Given the description of an element on the screen output the (x, y) to click on. 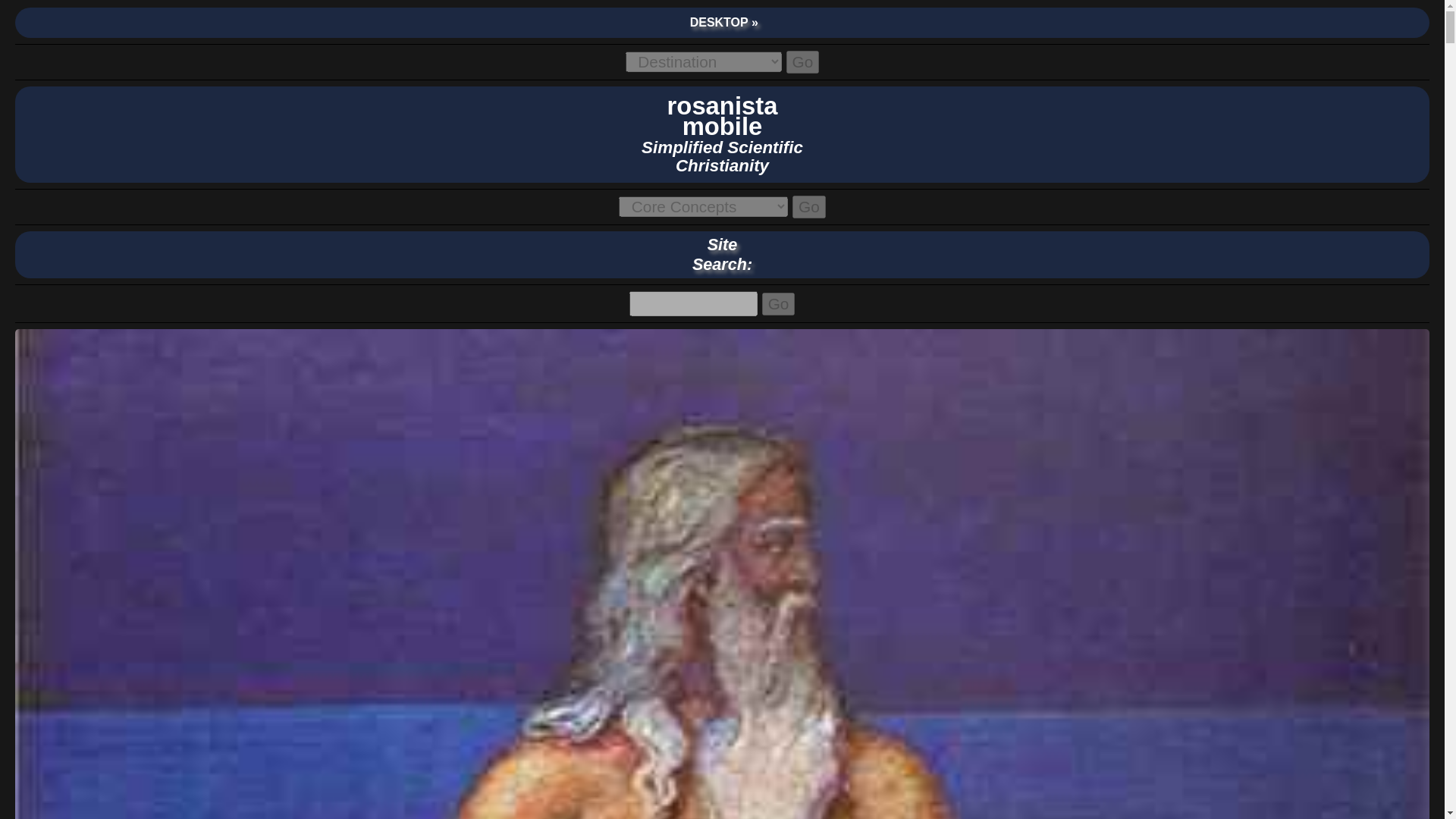
Go (808, 206)
Go (802, 61)
Go (722, 138)
Go (777, 303)
